Given the description of an element on the screen output the (x, y) to click on. 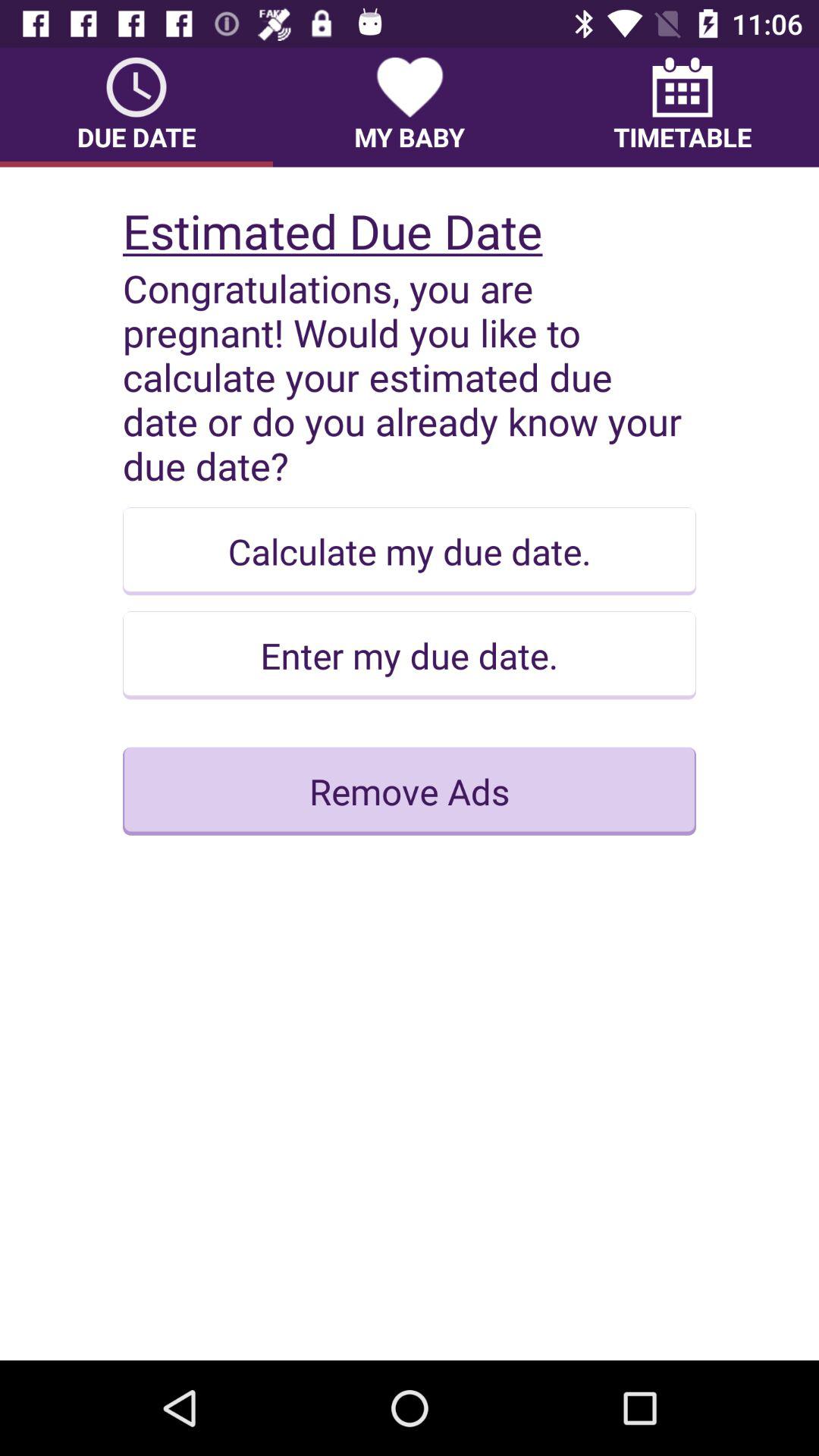
flip until the remove ads item (409, 791)
